Given the description of an element on the screen output the (x, y) to click on. 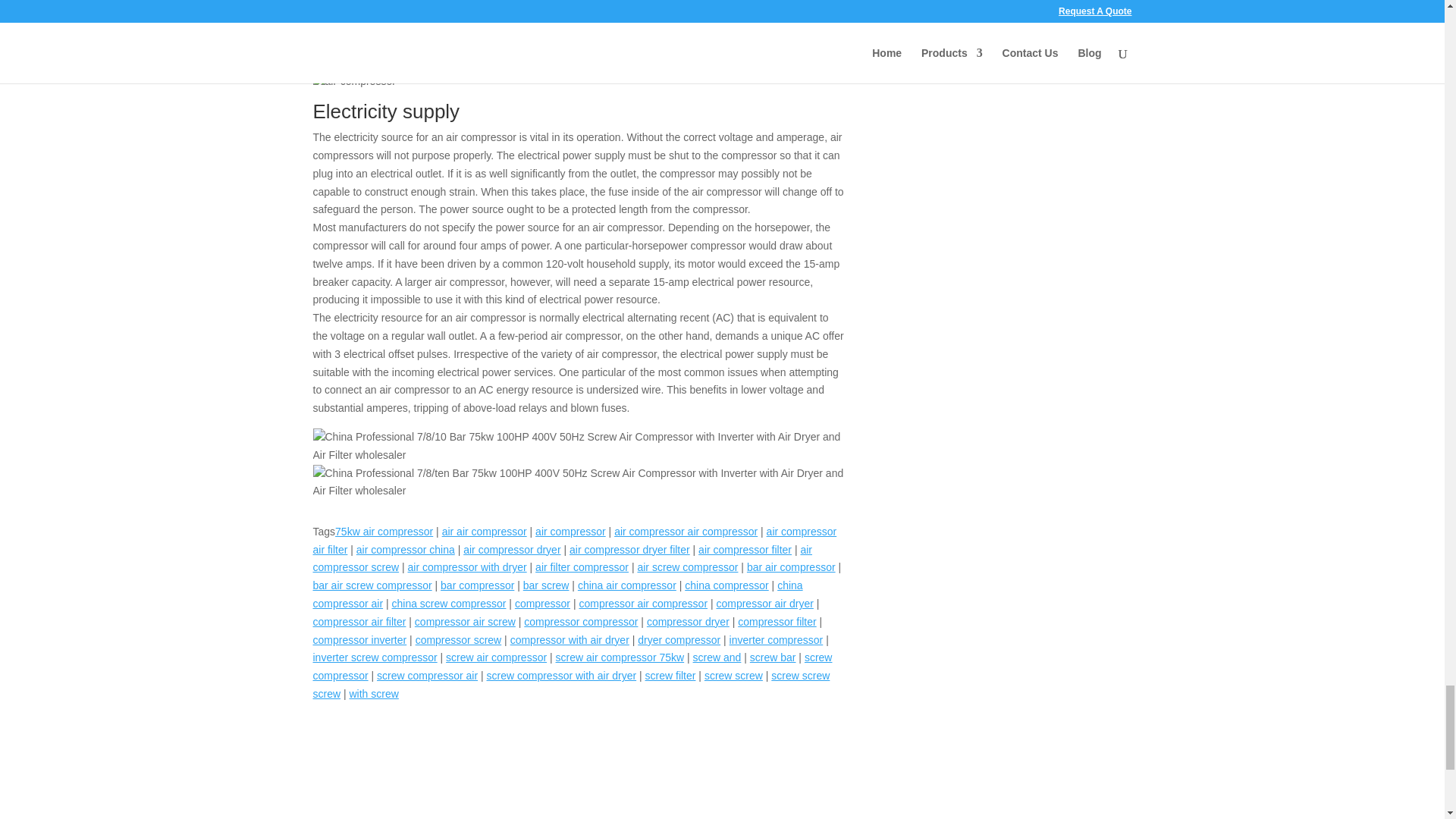
air compressor air compressor (685, 531)
china compressor (726, 585)
bar screw (545, 585)
compressor air screw (464, 621)
air filter compressor (581, 567)
china compressor air (557, 594)
air compressor with dryer (467, 567)
air compressor dryer (511, 549)
air compressor (570, 531)
compressor air compressor (642, 603)
compressor (542, 603)
air compressor air filter (574, 540)
compressor air dryer (764, 603)
bar air screw compressor (371, 585)
air compressor china (405, 549)
